Given the description of an element on the screen output the (x, y) to click on. 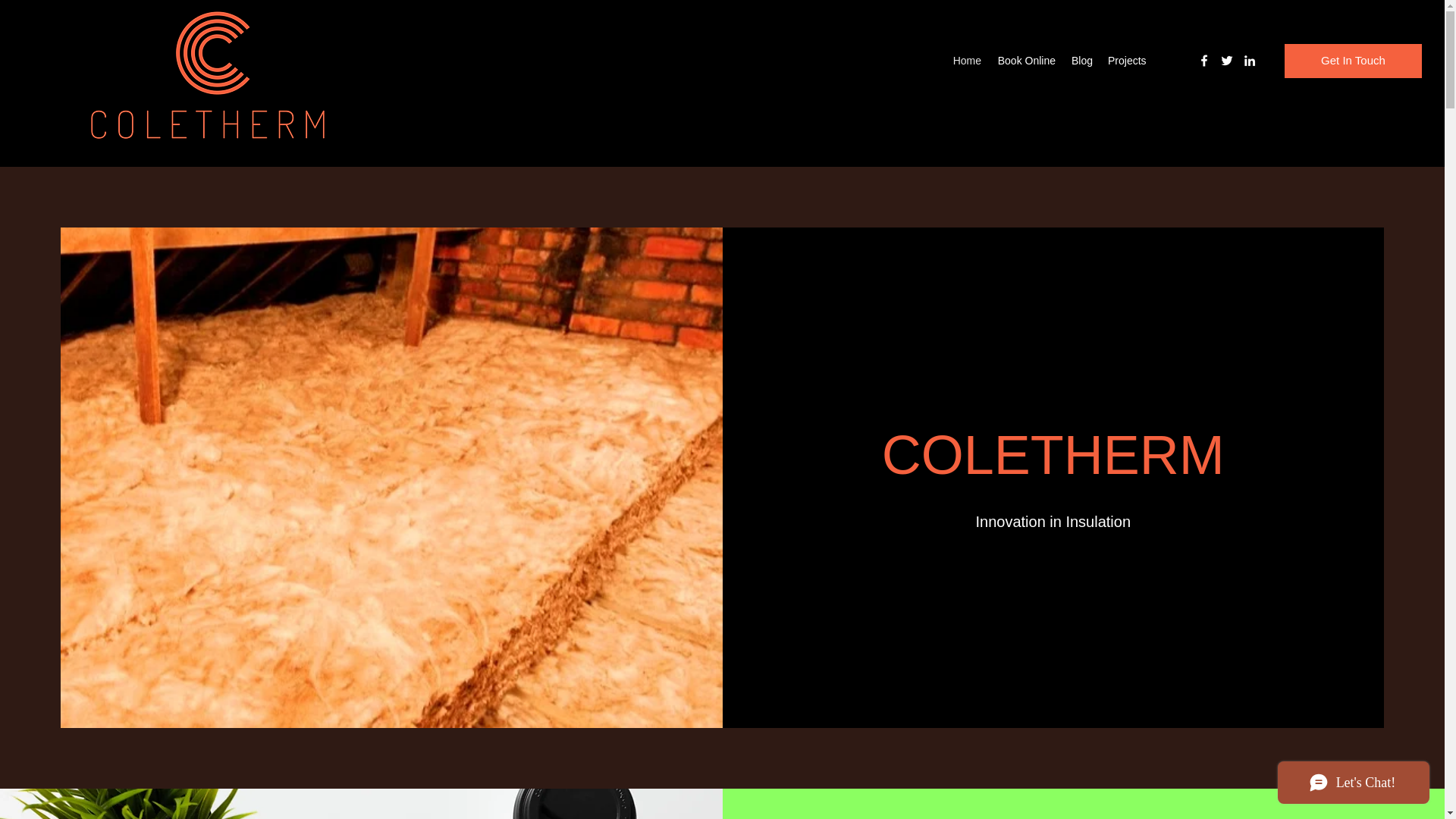
Home (966, 60)
Book Online (1025, 60)
Blog (1081, 60)
Projects (1126, 60)
